Given the description of an element on the screen output the (x, y) to click on. 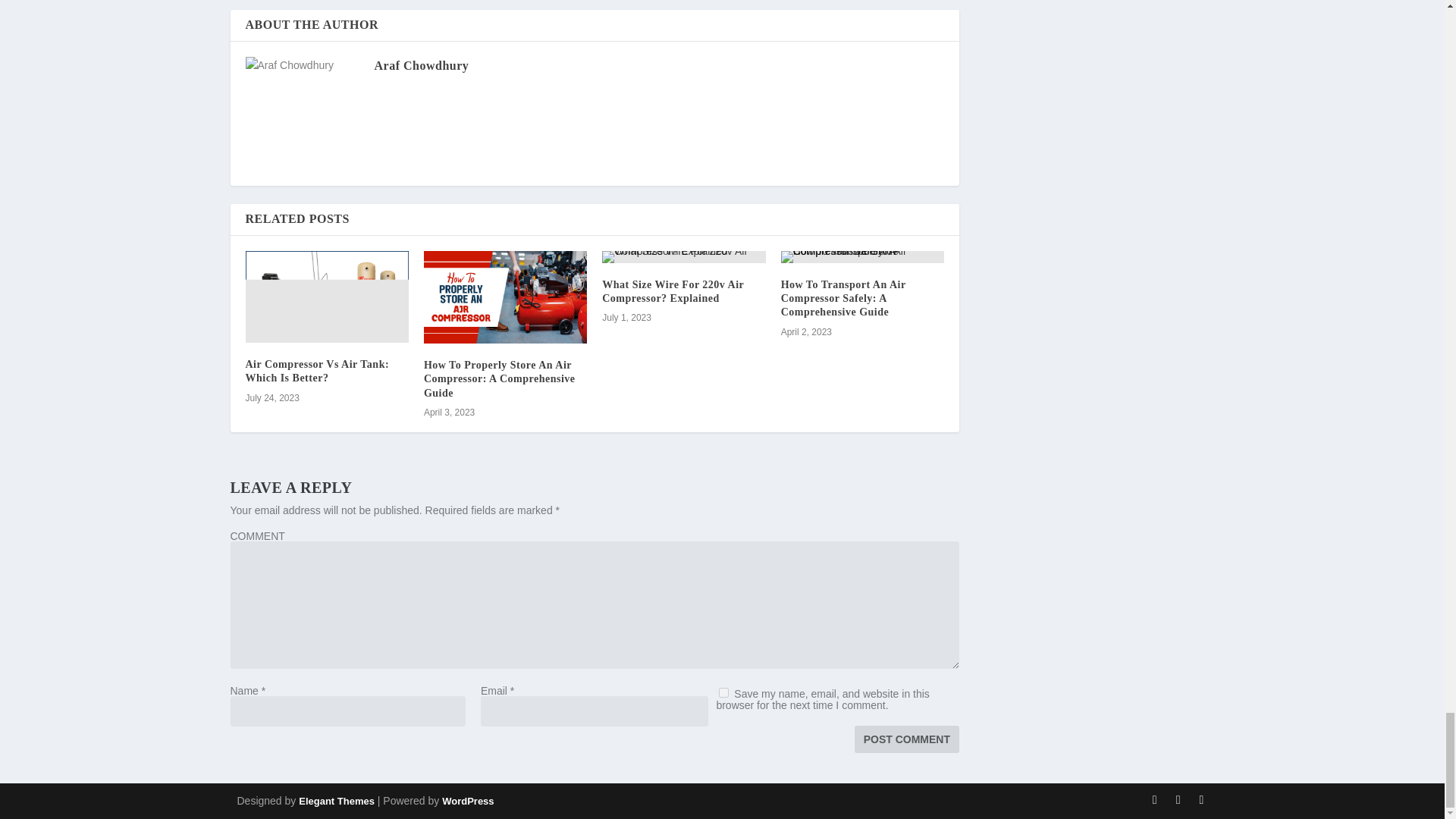
Araf Chowdhury (421, 65)
yes (724, 692)
View all posts by Araf Chowdhury (421, 65)
Air Compressor Vs Air Tank: Which Is Better? (318, 371)
Post Comment (906, 738)
